Given the description of an element on the screen output the (x, y) to click on. 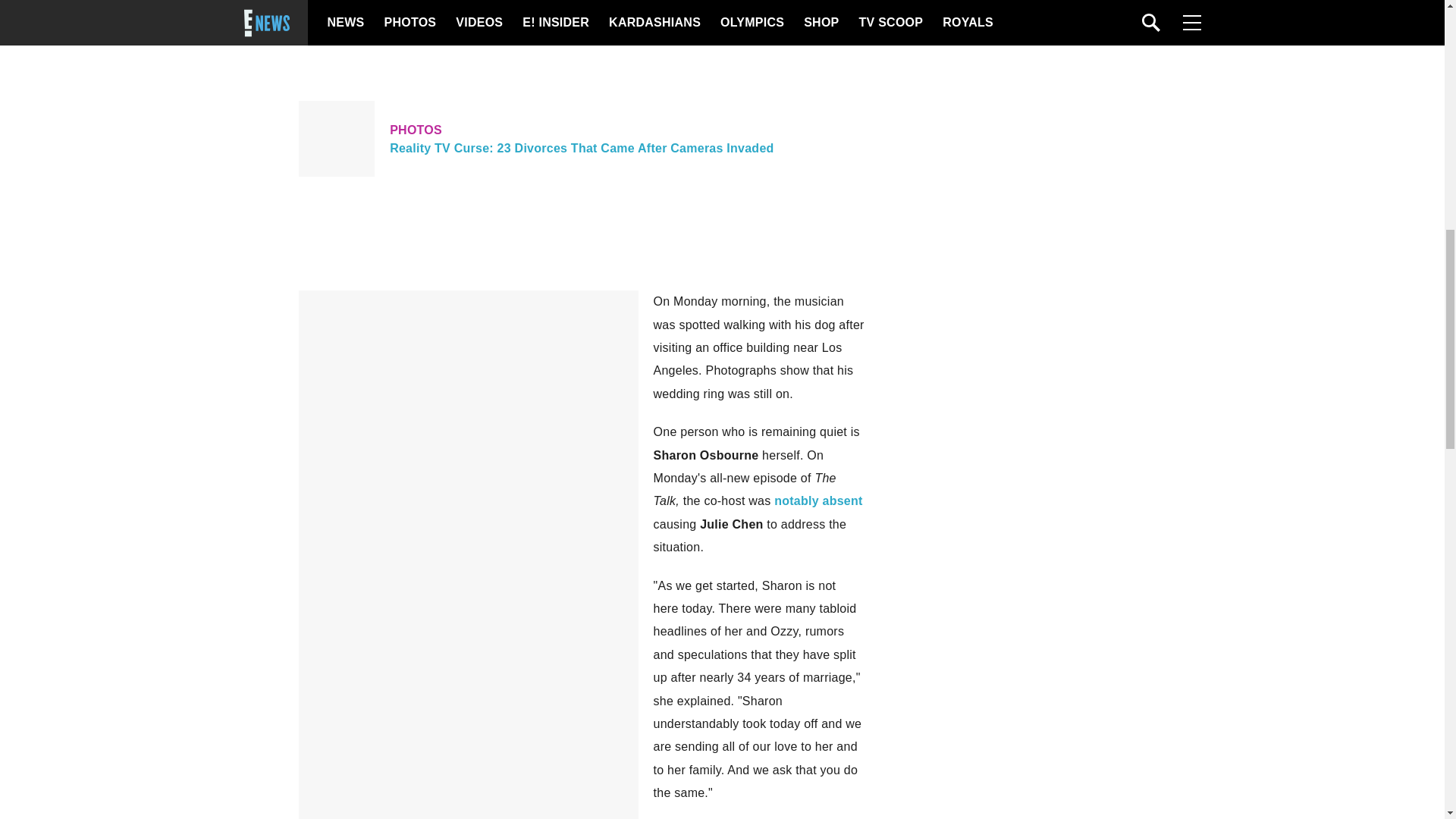
notably absent (817, 500)
